Given the description of an element on the screen output the (x, y) to click on. 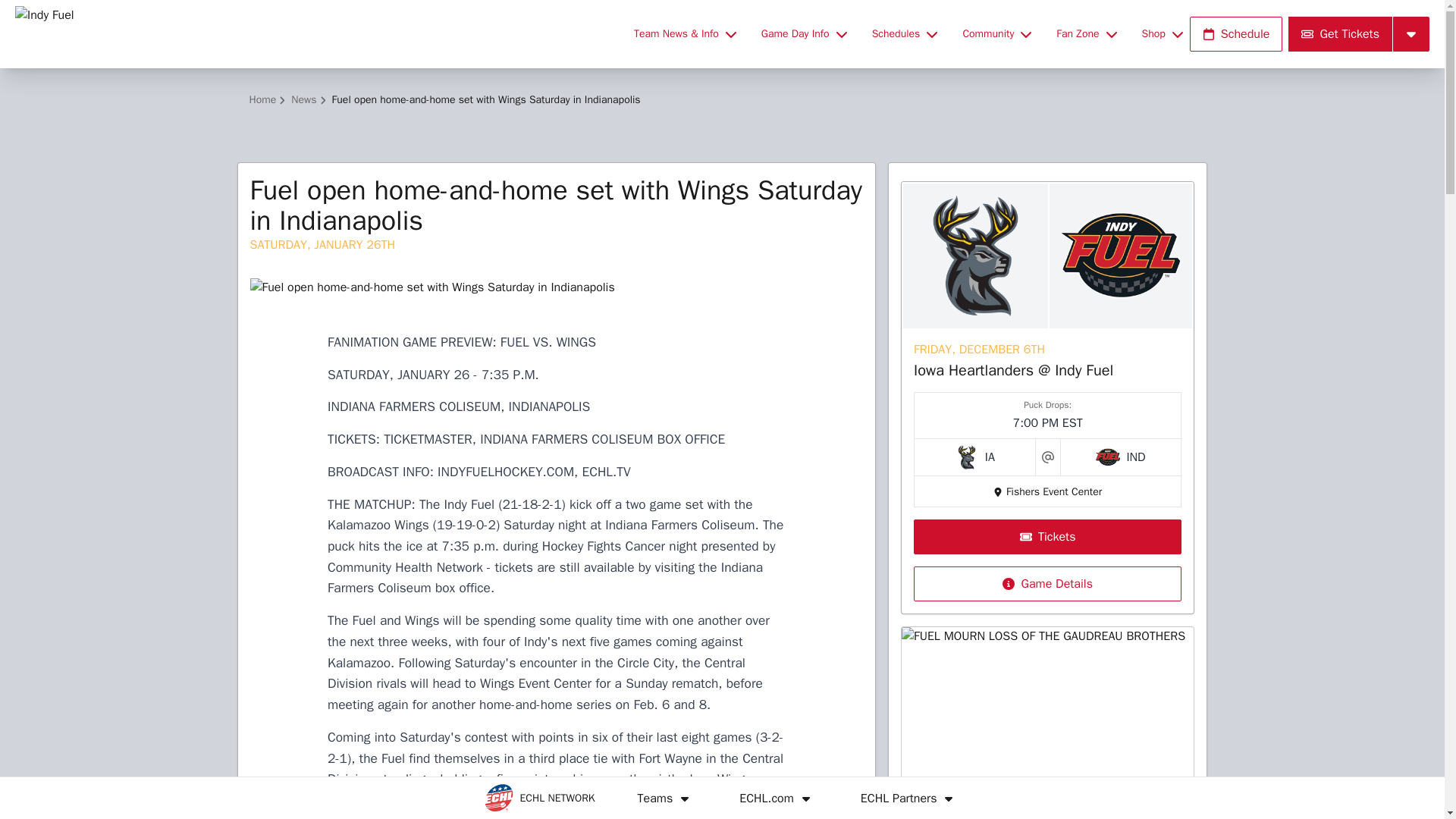
Fan Zone (1085, 33)
Indy Fuel (314, 33)
Game Day Info (804, 33)
Get Tickets (1339, 33)
Schedule (1236, 33)
Community (997, 33)
Shop (1162, 33)
Schedules (905, 33)
